Given the description of an element on the screen output the (x, y) to click on. 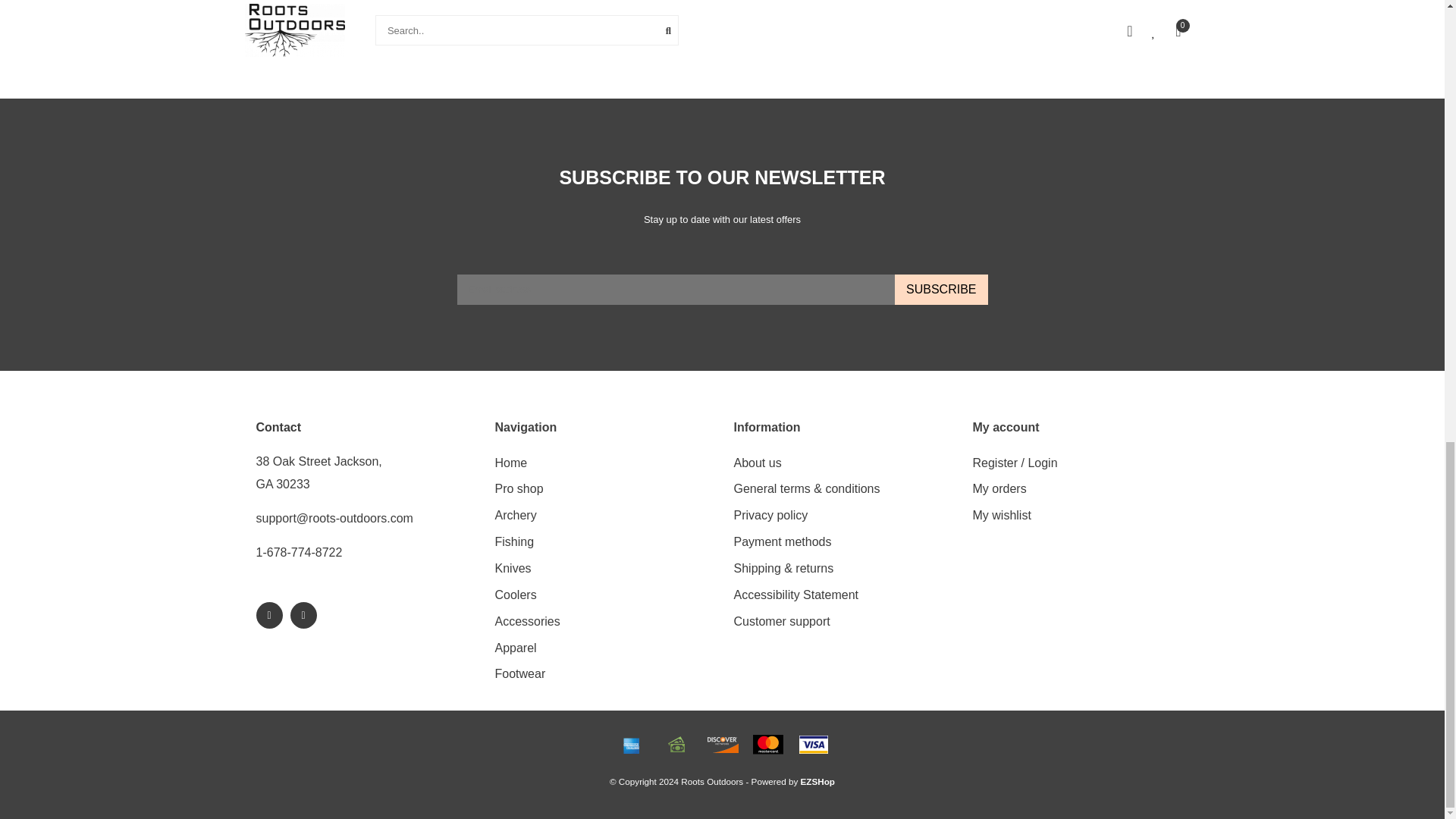
FISHING (514, 542)
FOOTWEAR (519, 673)
women's apparel (1058, 27)
COOLERS (515, 595)
About us (757, 463)
pants (983, 27)
KNIVES (513, 569)
jeans (929, 27)
APPAREL (515, 648)
HOME (511, 463)
ARCHERY (515, 515)
PRO SHOP (519, 488)
ACCESSORIES (527, 622)
